Given the description of an element on the screen output the (x, y) to click on. 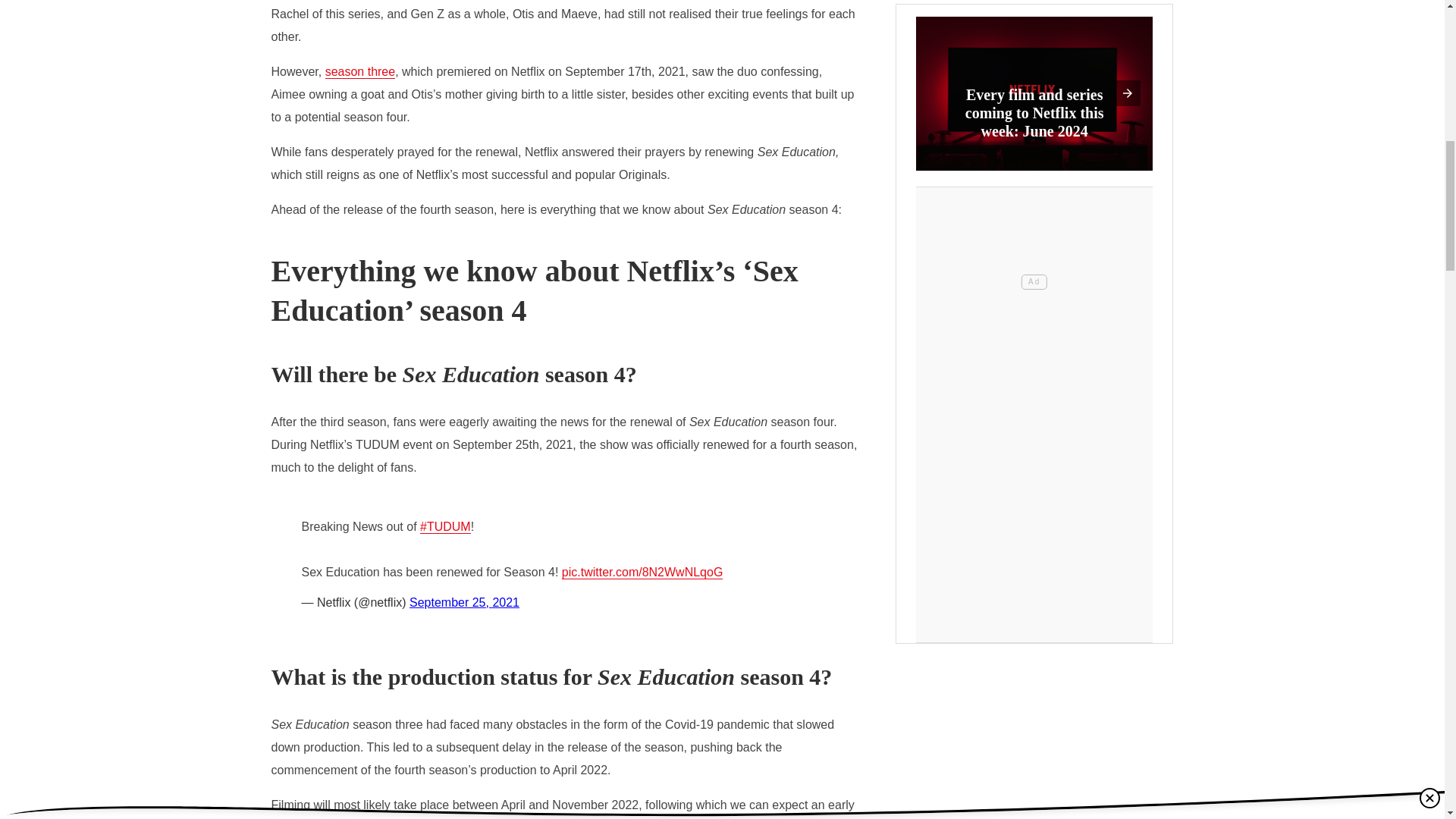
September 25, 2021 (464, 602)
Twitter (563, 565)
season three (360, 71)
